Given the description of an element on the screen output the (x, y) to click on. 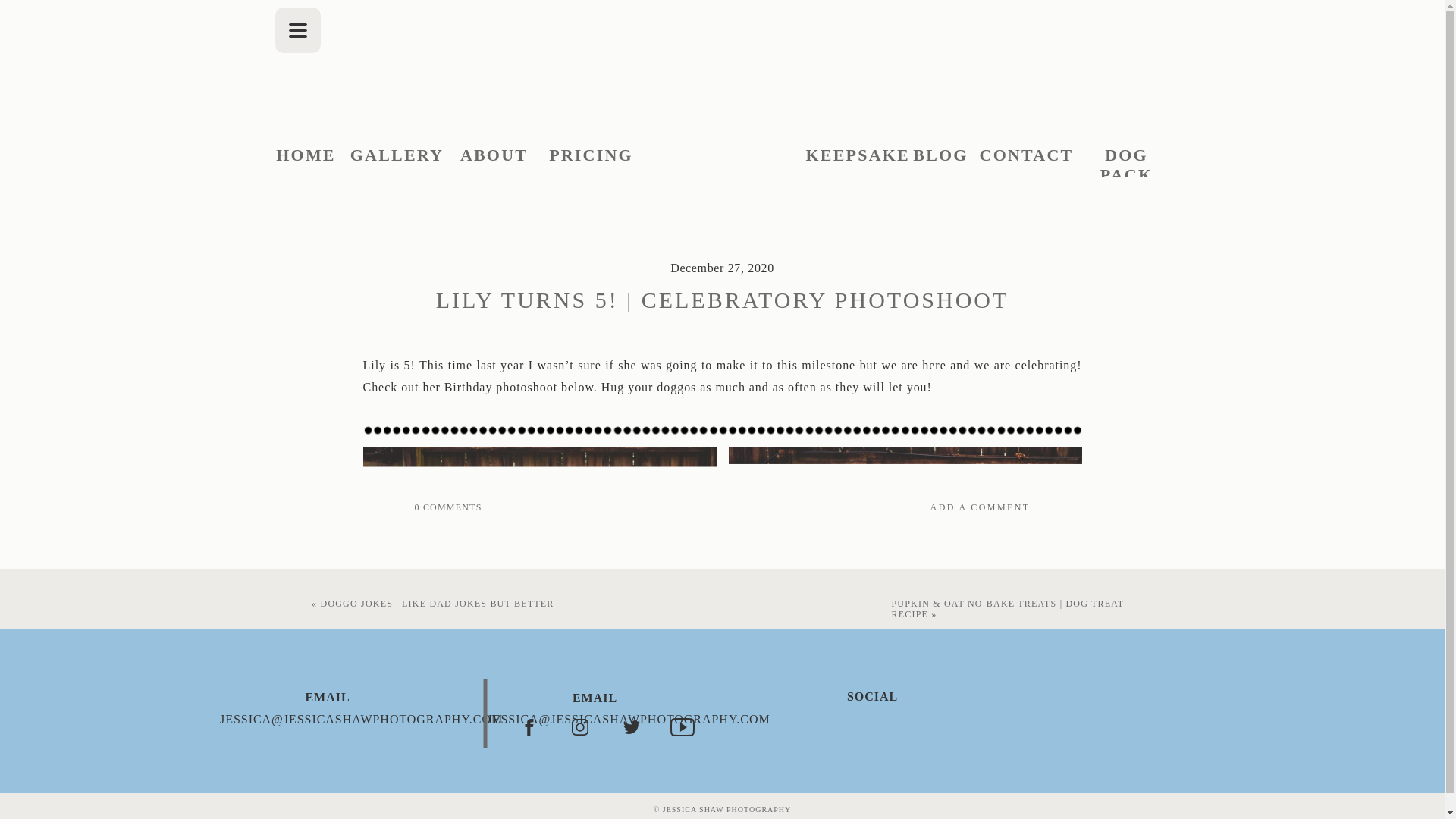
0 COMMENTS (447, 507)
BLOG (939, 156)
ADD A COMMENT (883, 507)
DOG PACK (1126, 156)
PRICING (591, 156)
HOME (306, 156)
ABOUT (494, 156)
CONTACT (1026, 156)
KEEPSAKE (853, 156)
GALLERY (397, 156)
